Given the description of an element on the screen output the (x, y) to click on. 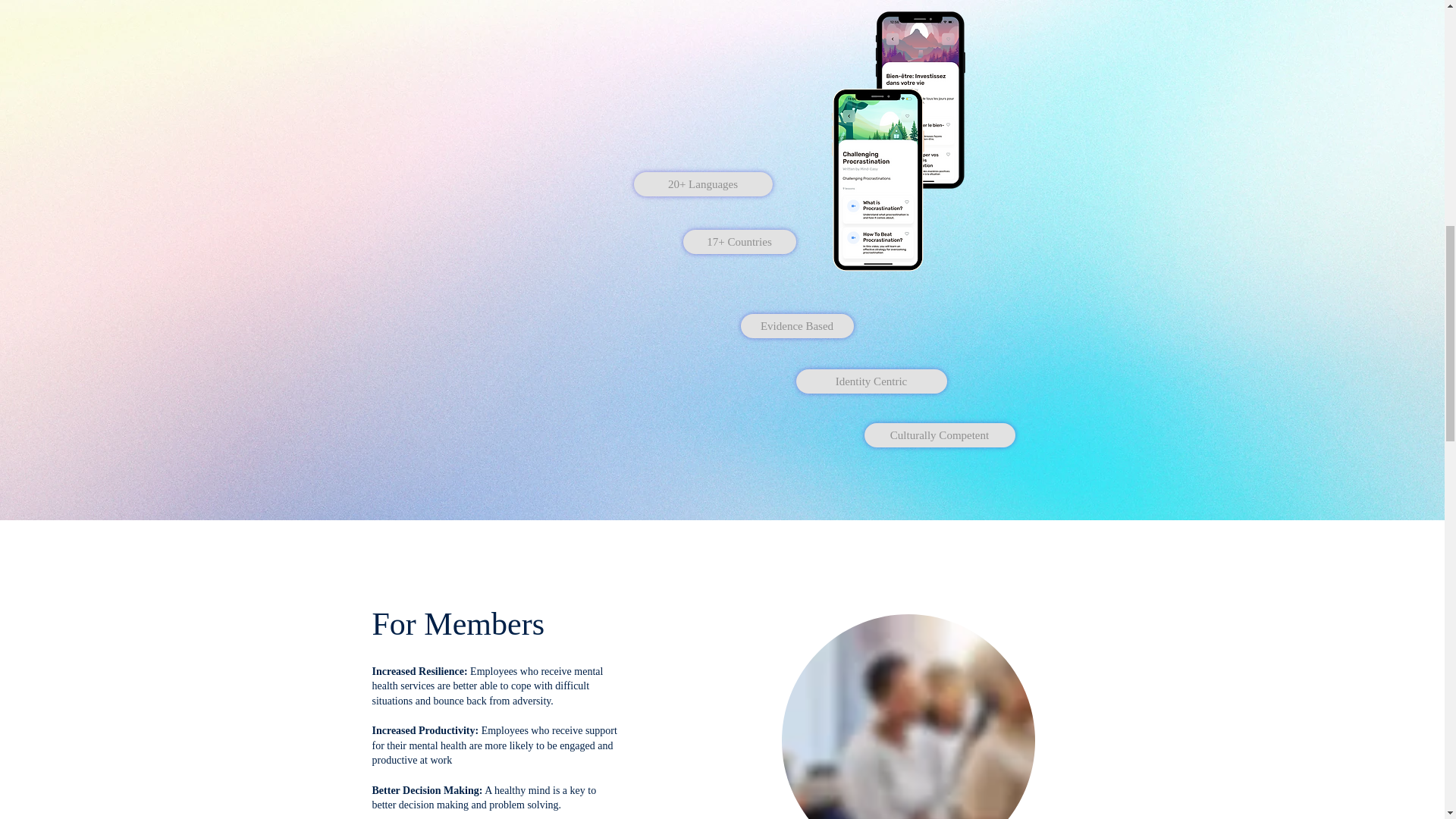
Evidence Based (796, 325)
Identity Centric (871, 381)
Culturally Competent (939, 435)
